Given the description of an element on the screen output the (x, y) to click on. 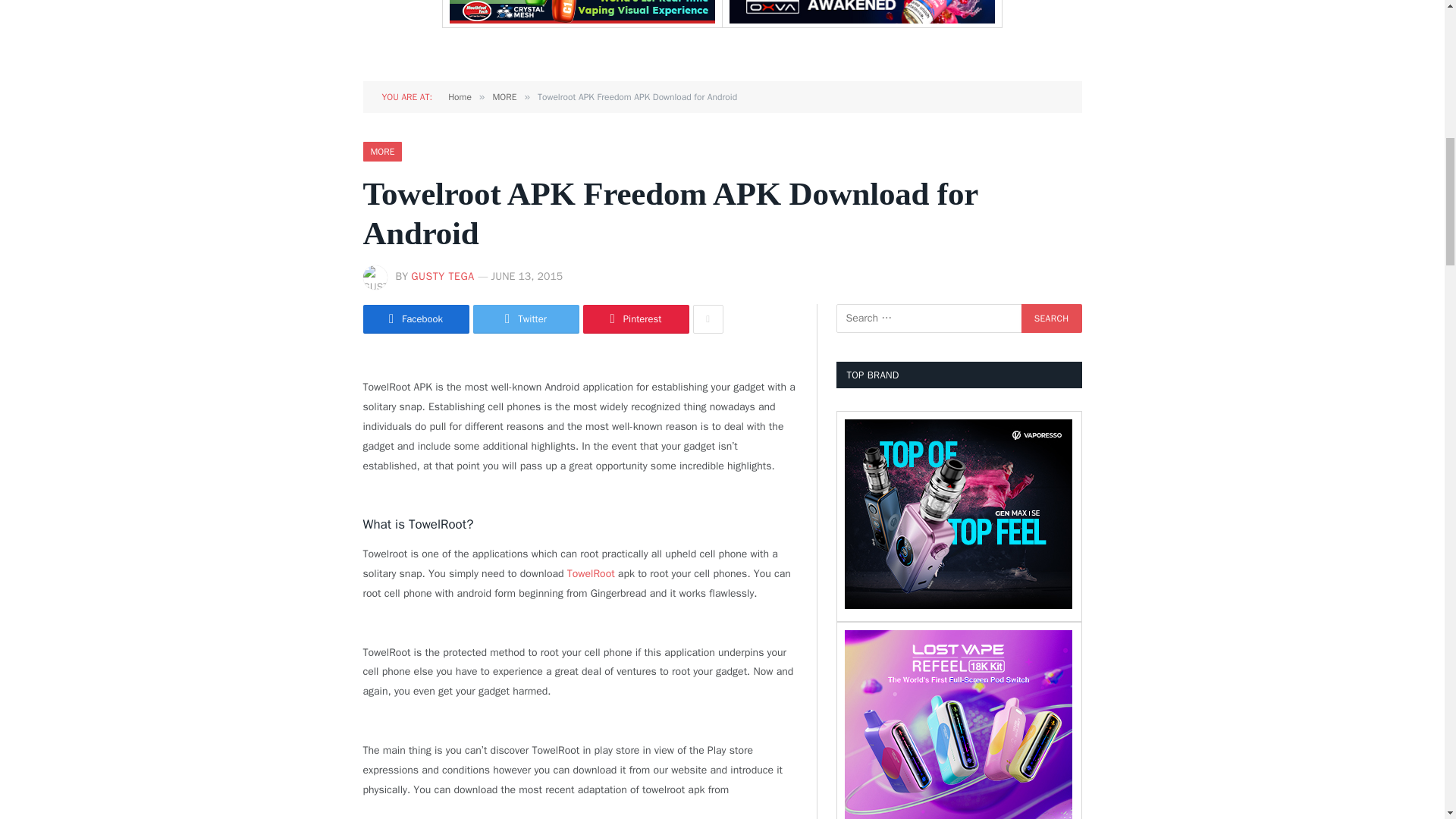
Share on Pinterest (635, 318)
Posts by Gusty Tega (442, 276)
Show More Social Sharing (708, 318)
Search (1051, 317)
Share on Twitter (526, 318)
Share on Facebook (415, 318)
Search (1051, 317)
